Given the description of an element on the screen output the (x, y) to click on. 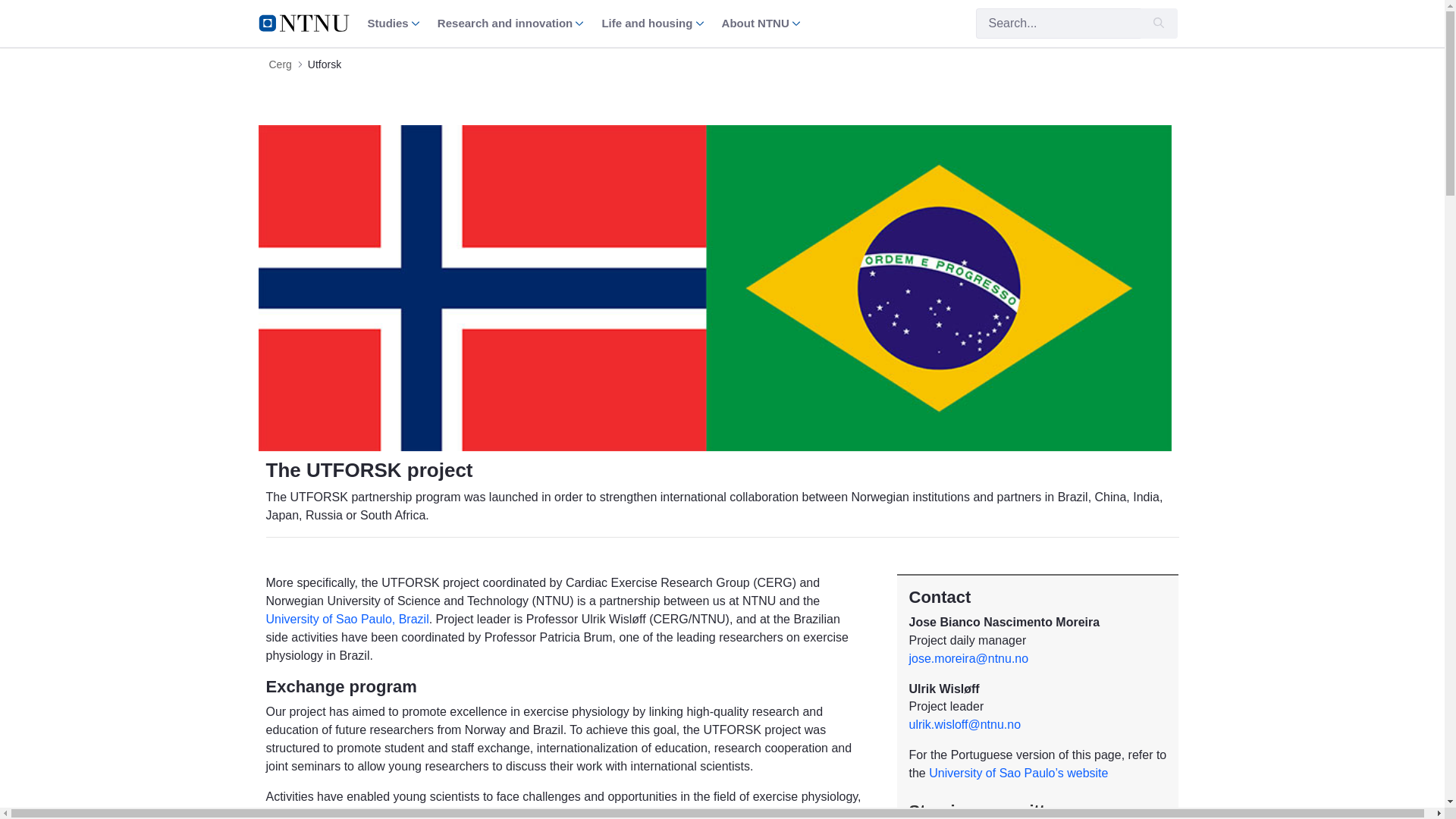
University of Sao Paulo, Brazil (346, 618)
Utforsk (323, 64)
Cerg (279, 64)
Life and housing (652, 23)
Research and innovation (509, 23)
Studies (393, 23)
Search (1057, 23)
About NTNU (761, 23)
Cerg (279, 64)
